Given the description of an element on the screen output the (x, y) to click on. 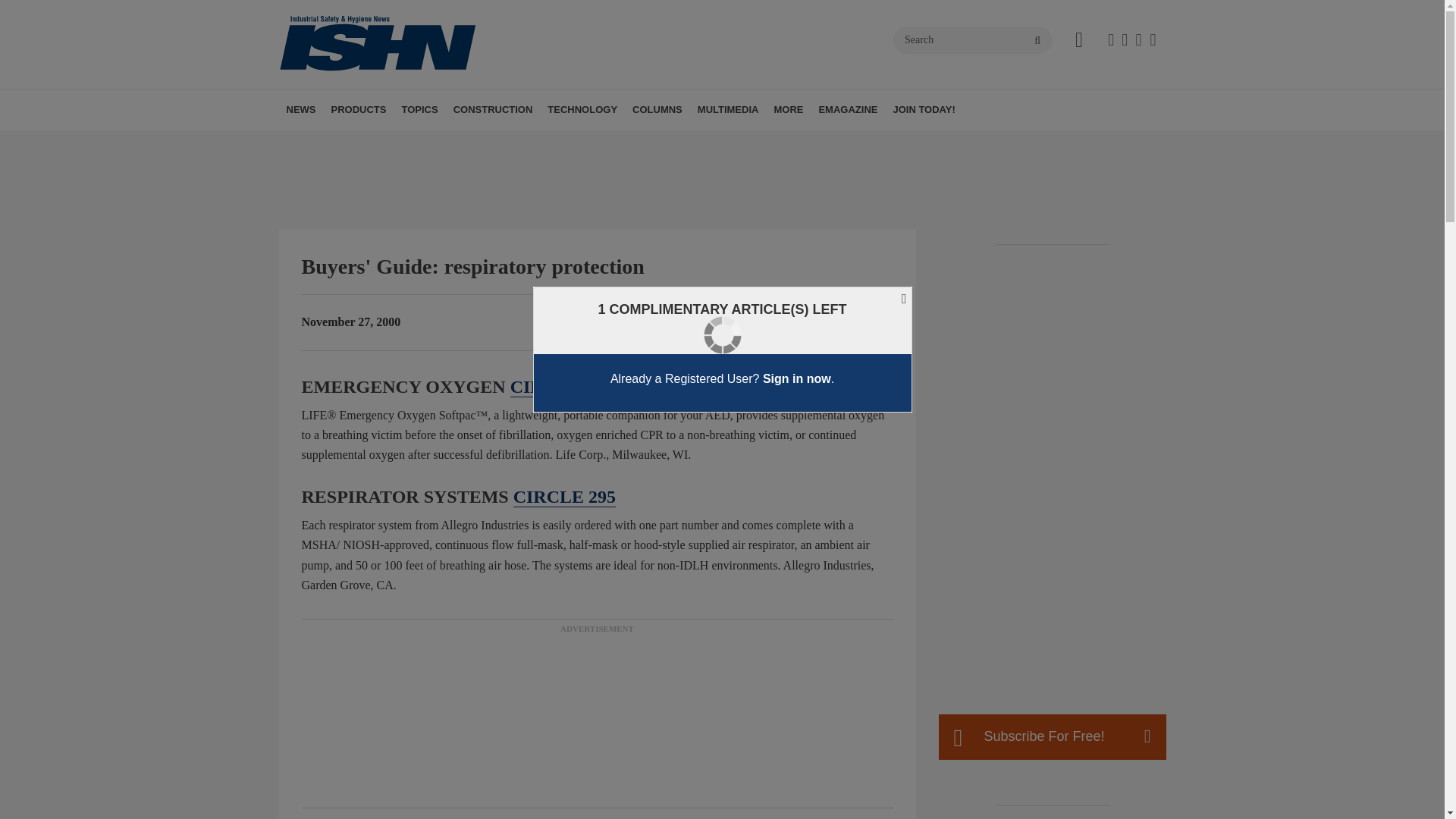
EDITORIAL COMMENTS (736, 142)
PPE (519, 142)
WORKPLACE HEALTH (510, 142)
CONSTRUCTION (492, 109)
TECHNOLOGY (582, 109)
COLUMNS (657, 109)
TODAY'S NEWS (373, 142)
Search (972, 40)
ENVIRONMENTAL HEALTH AND SAFETY (488, 151)
LEADING SAFETY (740, 142)
